Given the description of an element on the screen output the (x, y) to click on. 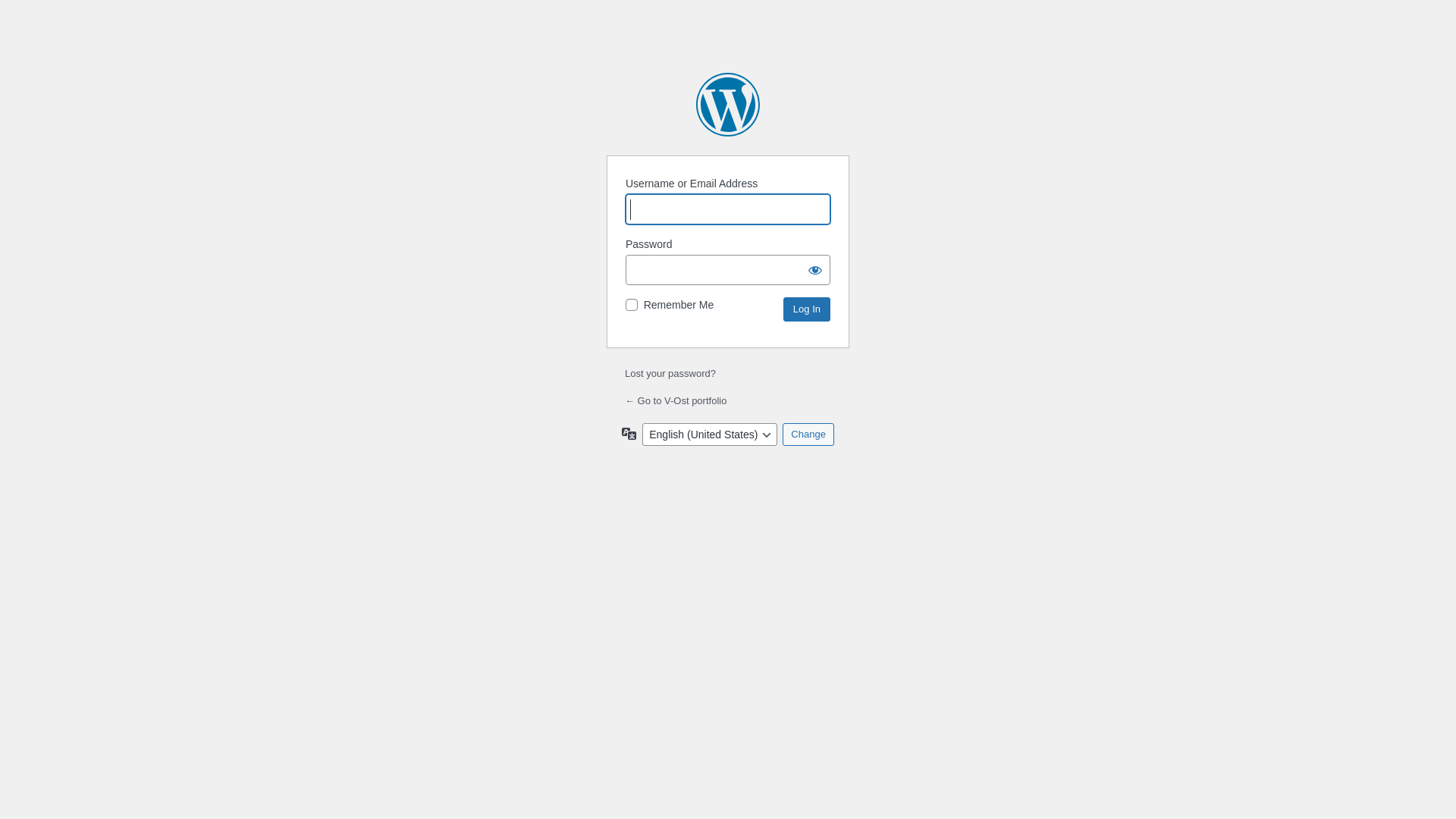
Change Element type: text (808, 434)
Lost your password? Element type: text (669, 373)
Log In Element type: text (806, 309)
Powered by WordPress Element type: text (727, 104)
